Given the description of an element on the screen output the (x, y) to click on. 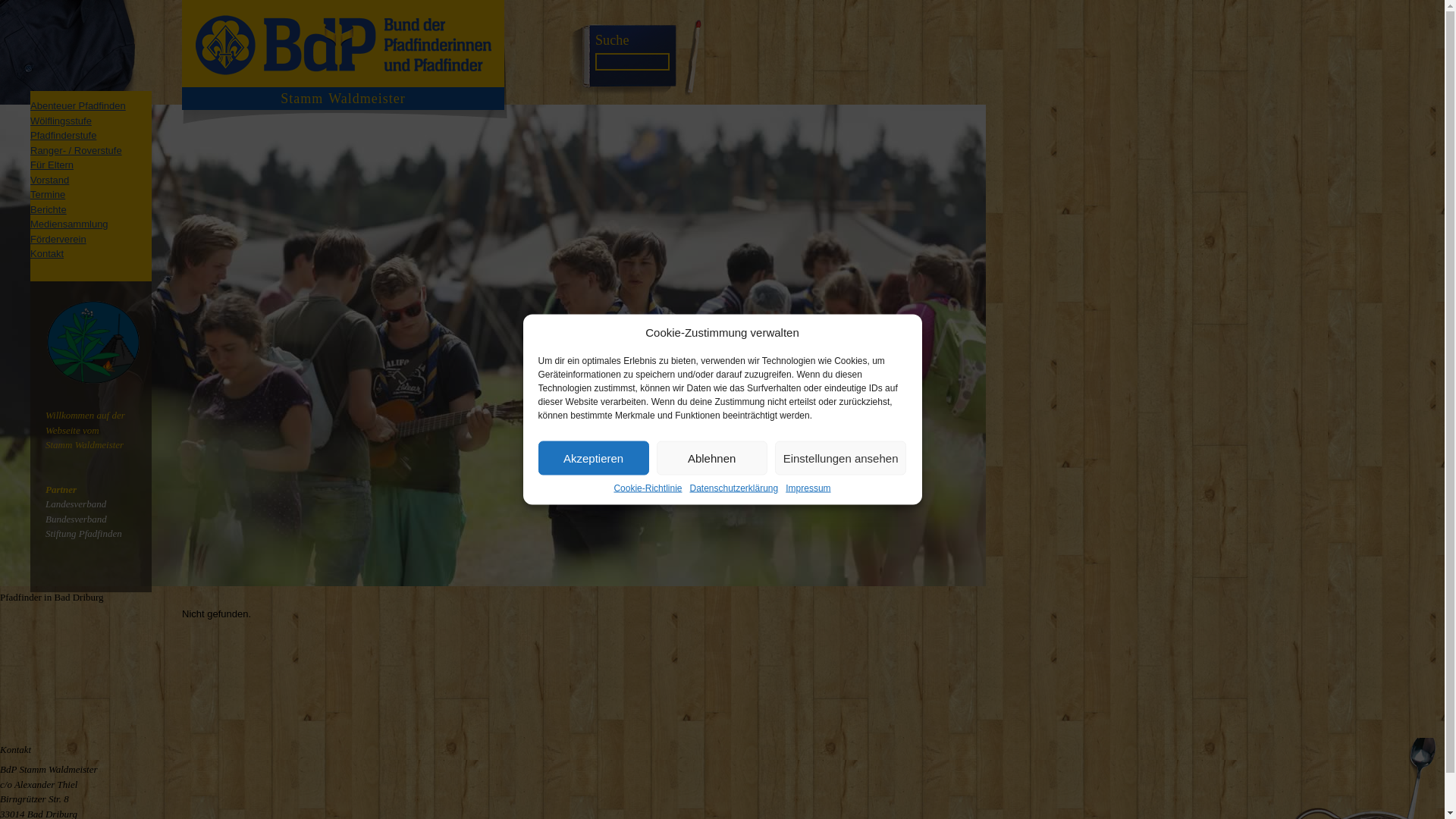
Pfadfinderstufe (63, 134)
Berichte (48, 209)
Query search (611, 39)
Suche nach: (632, 61)
Stiftung Pfadfinden (83, 532)
Termine (47, 194)
Einstellungen ansehen (840, 458)
Mediensammlung (68, 224)
Vorstand (49, 179)
Suche (611, 39)
